Given the description of an element on the screen output the (x, y) to click on. 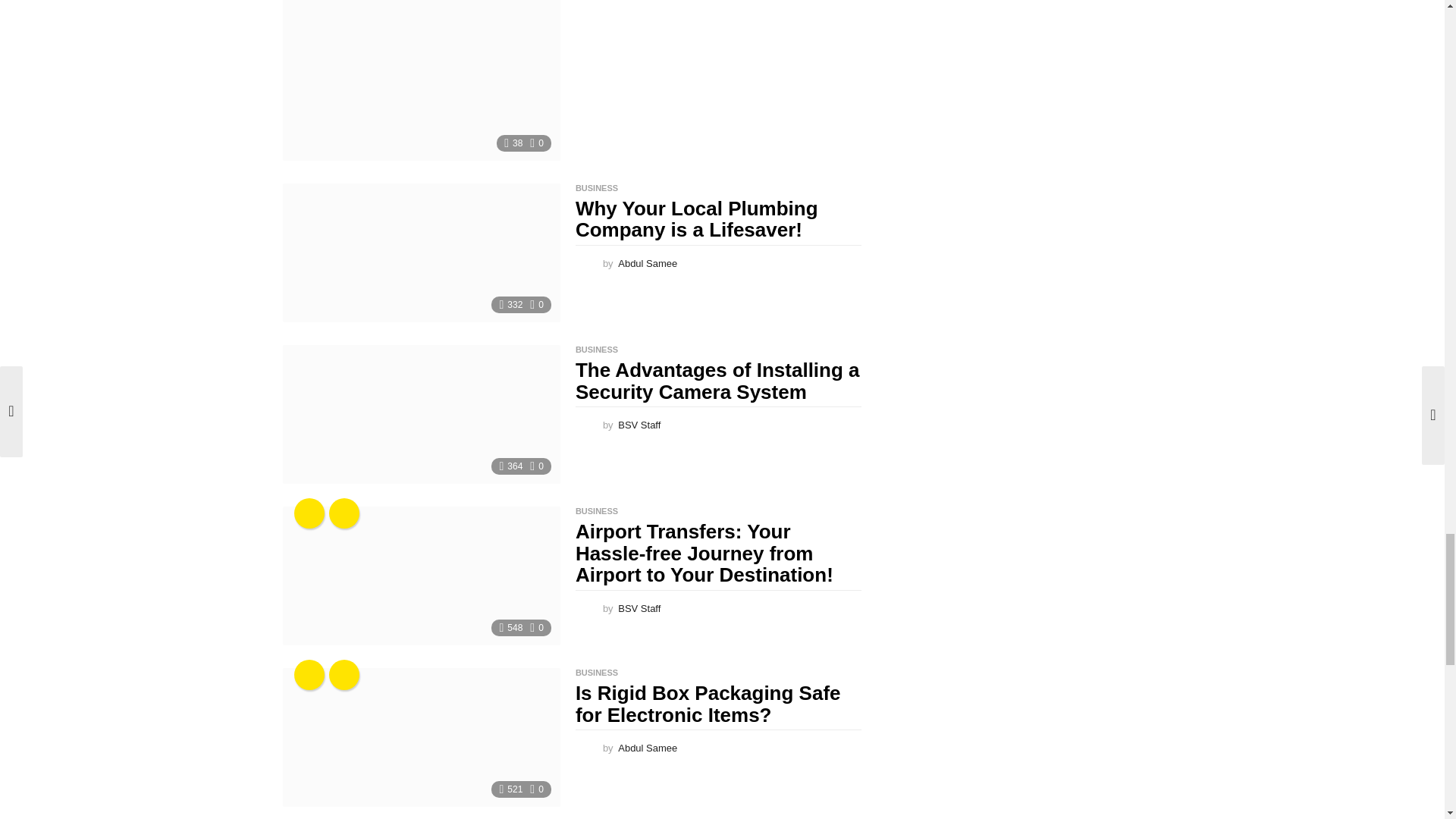
Timur Turlov: A Visionary in Finance and Investment (420, 80)
Why Your Local Plumbing Company is a Lifesaver! (420, 252)
fail (344, 512)
confused (309, 512)
The Advantages of Installing a Security Camera System (420, 414)
